Given the description of an element on the screen output the (x, y) to click on. 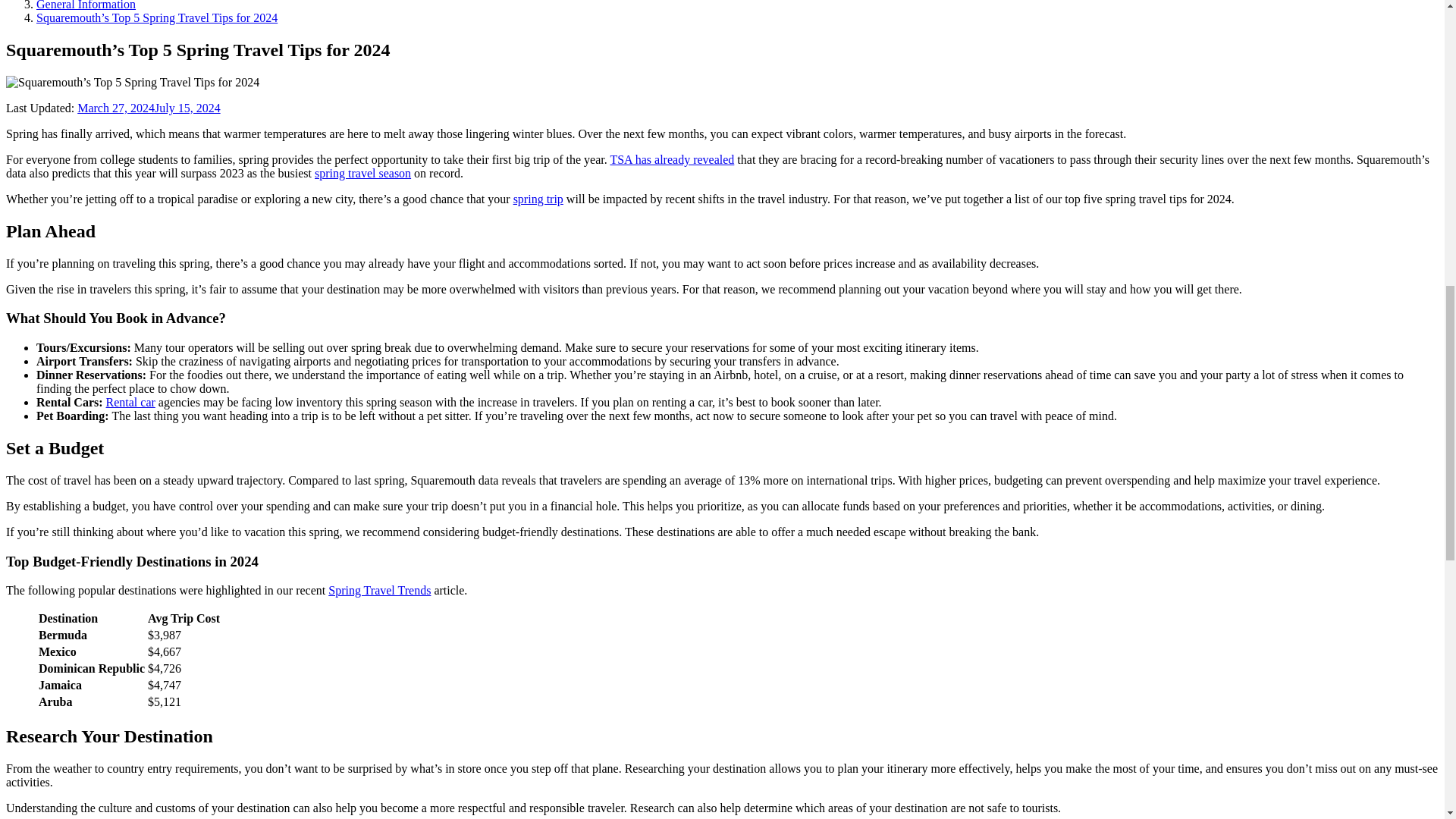
1:39 pm (148, 107)
